Given the description of an element on the screen output the (x, y) to click on. 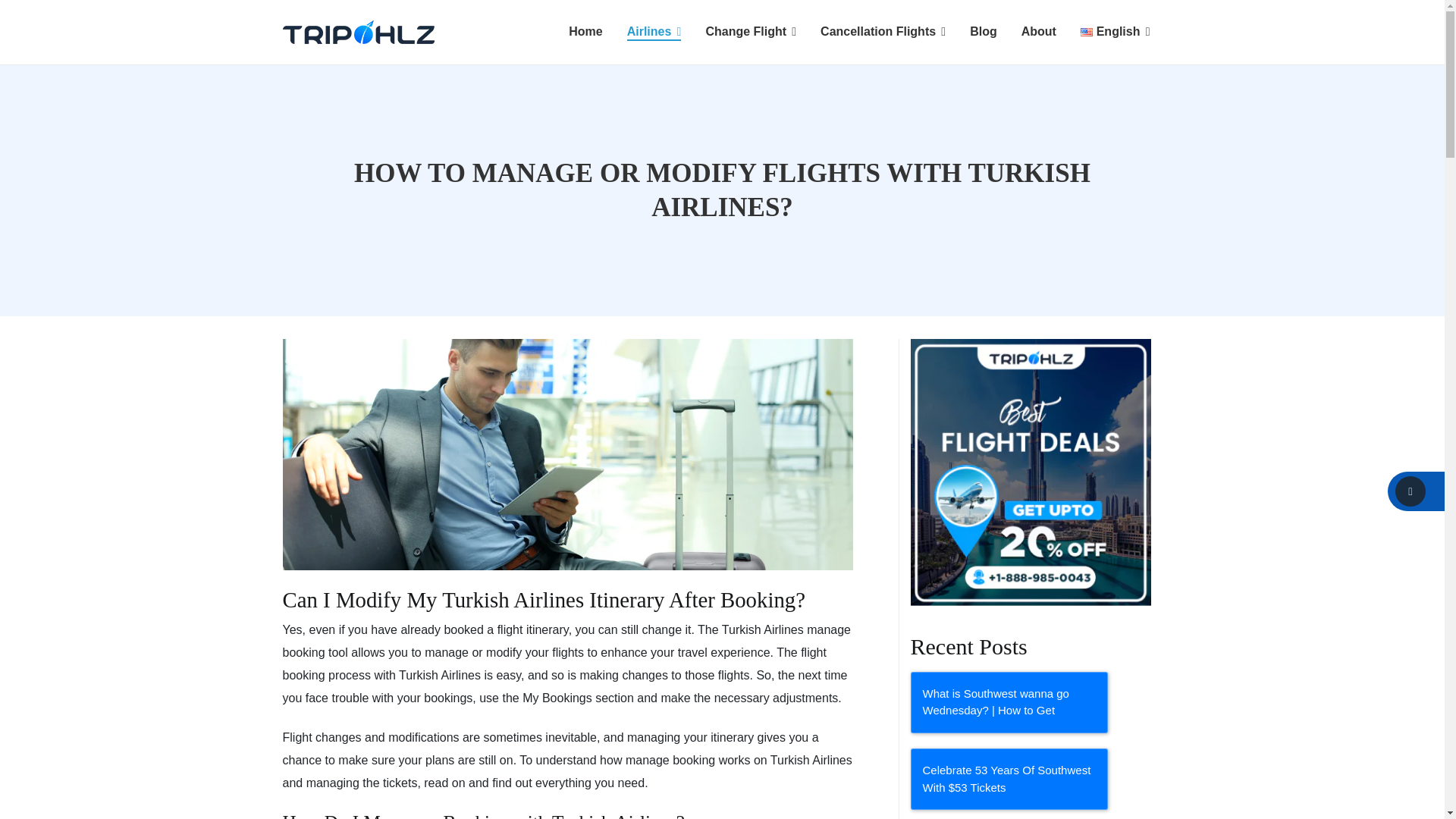
Change Flight (750, 31)
Airlines (654, 31)
Home (585, 31)
